Given the description of an element on the screen output the (x, y) to click on. 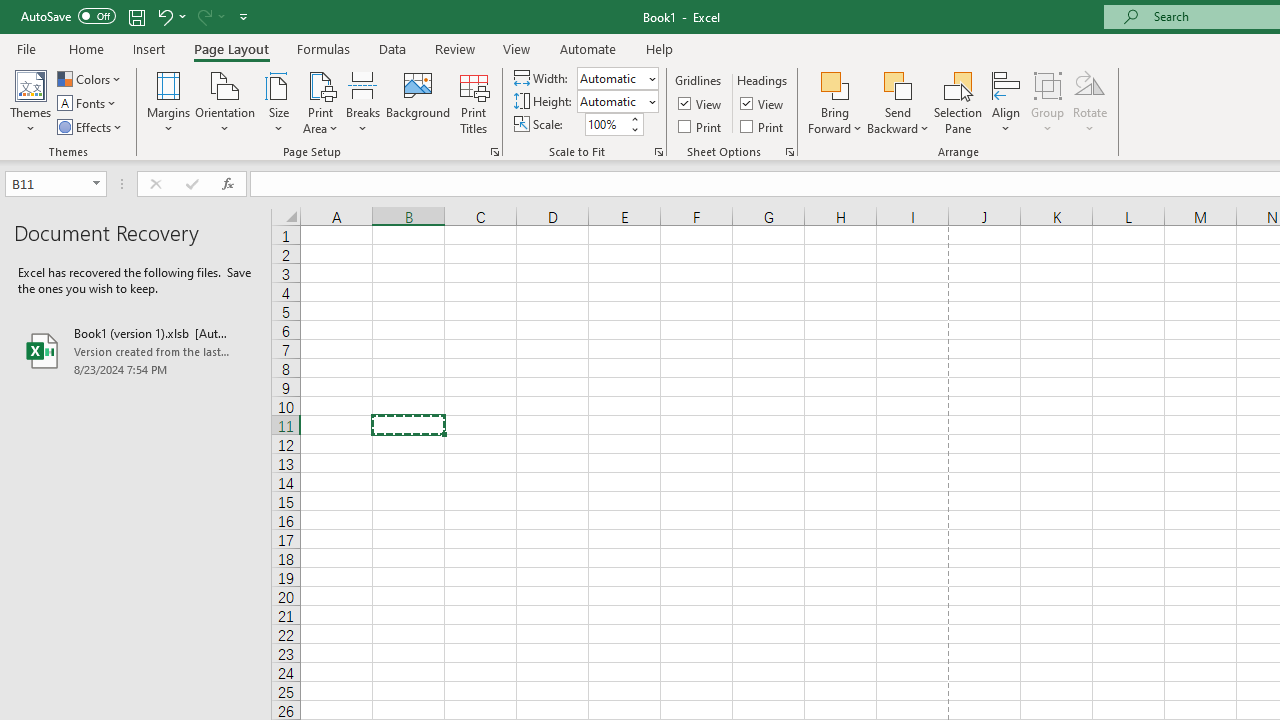
Bring Forward (835, 102)
Fonts (87, 103)
Breaks (362, 102)
Align (1005, 102)
Send Backward (898, 84)
Height (611, 101)
Margins (168, 102)
Sheet Options (789, 151)
Bring Forward (835, 84)
Selection Pane... (958, 102)
